Given the description of an element on the screen output the (x, y) to click on. 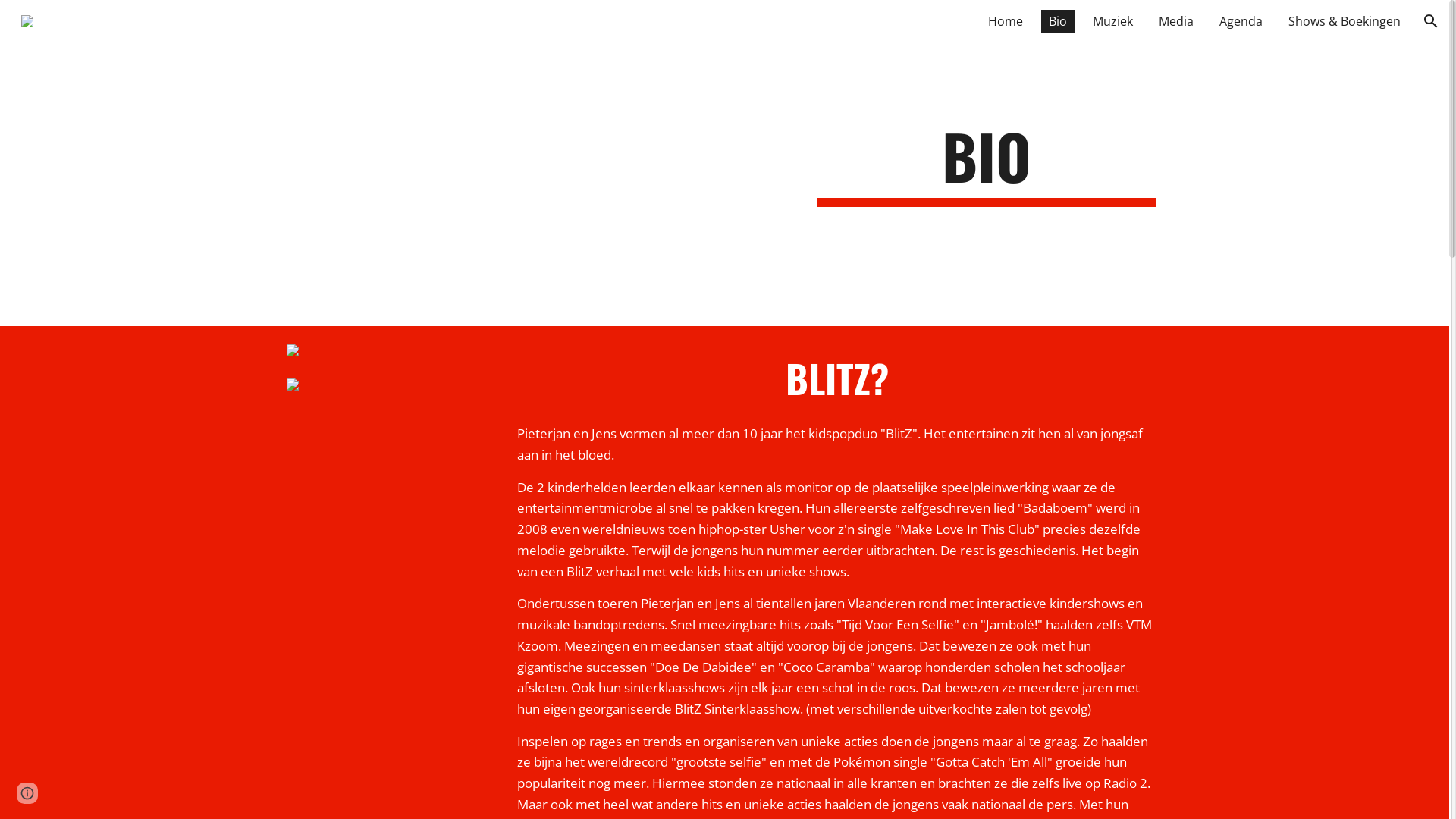
Shows & Boekingen Element type: text (1344, 20)
Agenda Element type: text (1240, 20)
Bio Element type: text (1057, 20)
Home Element type: text (1005, 20)
Media Element type: text (1176, 20)
Muziek Element type: text (1112, 20)
